Given the description of an element on the screen output the (x, y) to click on. 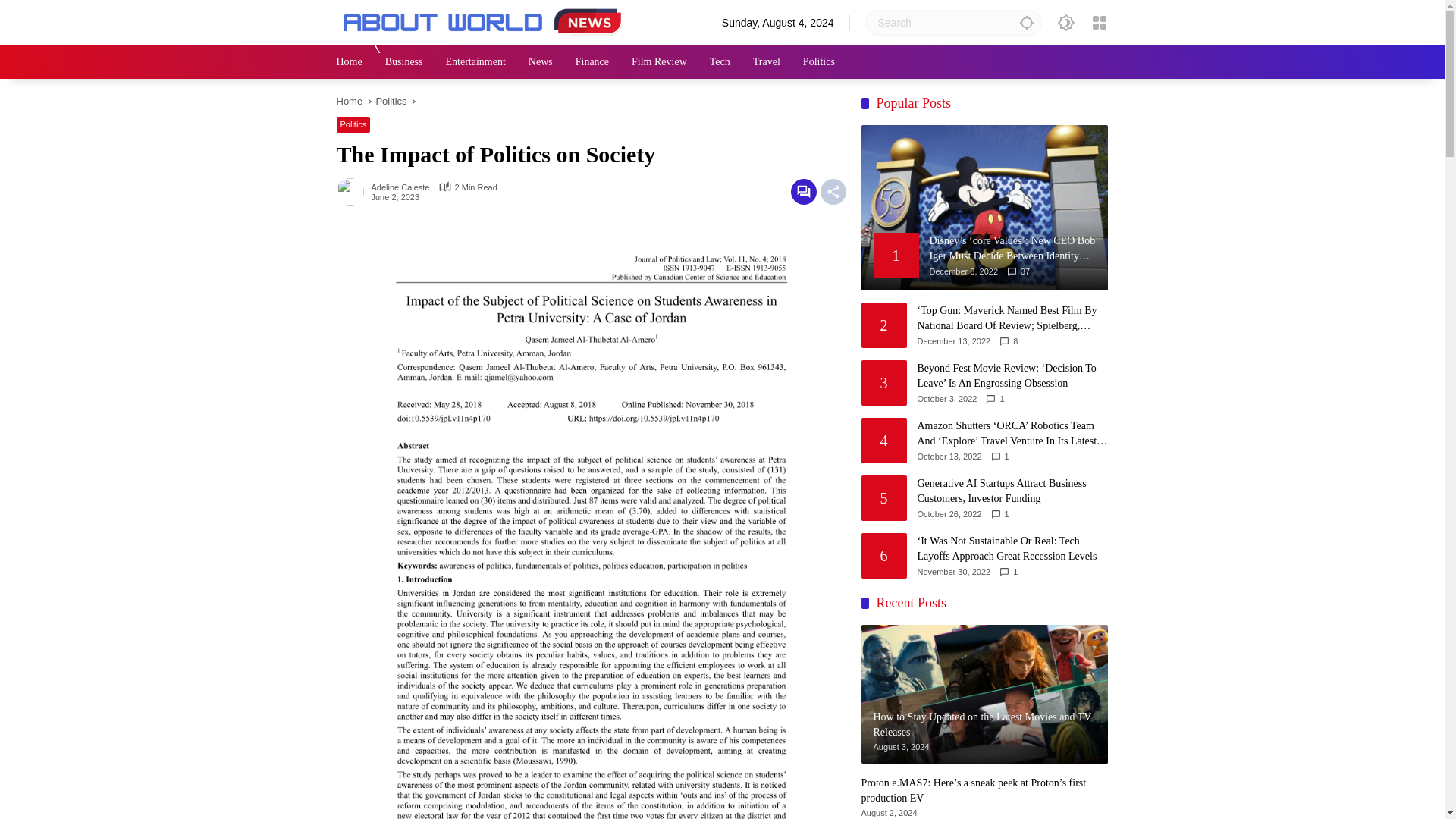
Adeline Caleste (400, 187)
About World News (485, 21)
View all posts in Politics (353, 124)
Finance (591, 61)
Home (349, 101)
Politics (353, 124)
Entertainment (475, 61)
Adeline Caleste (400, 187)
Politics (390, 101)
Business (404, 61)
